Given the description of an element on the screen output the (x, y) to click on. 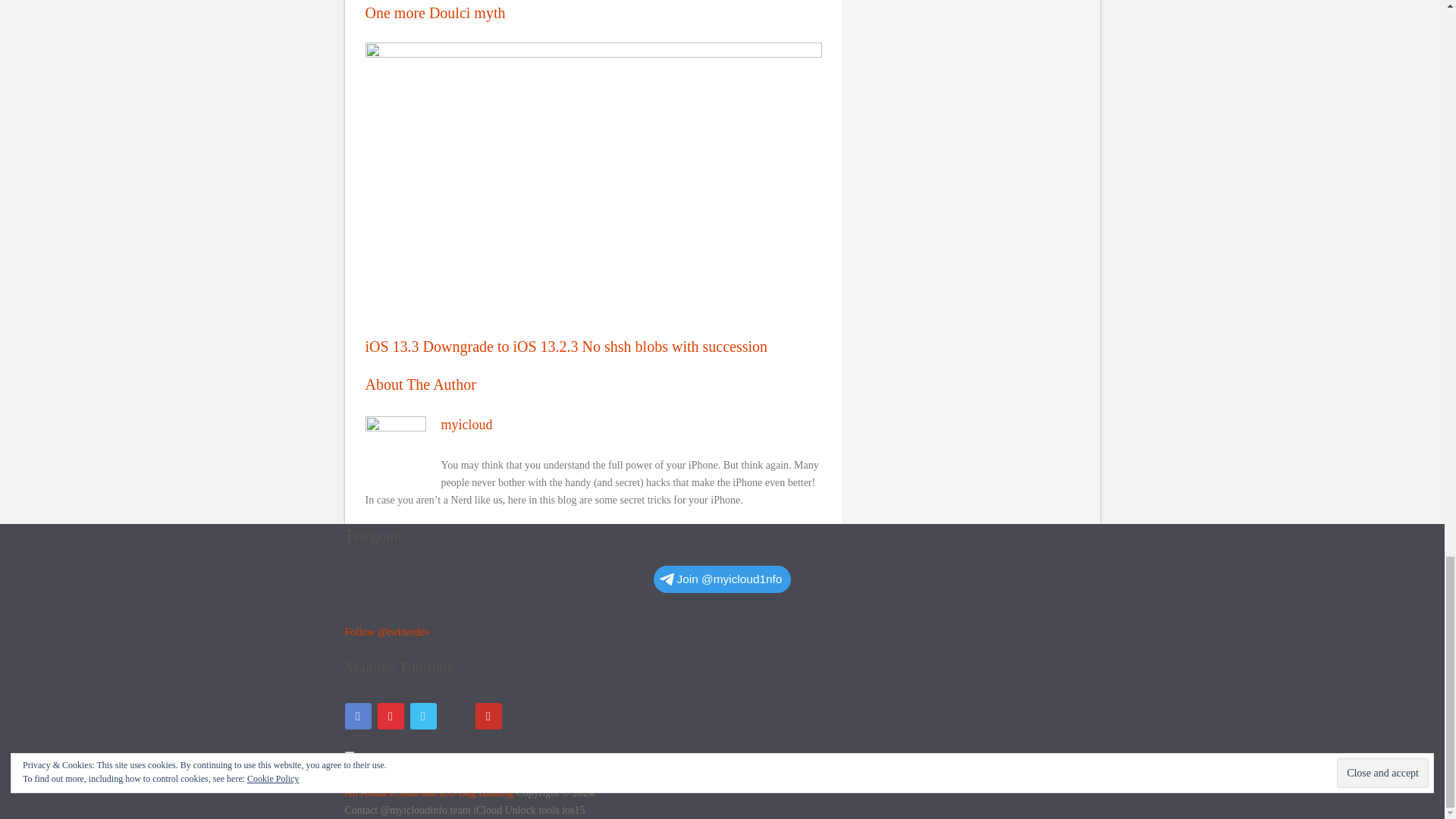
One more Doulci myth (593, 11)
